Given the description of an element on the screen output the (x, y) to click on. 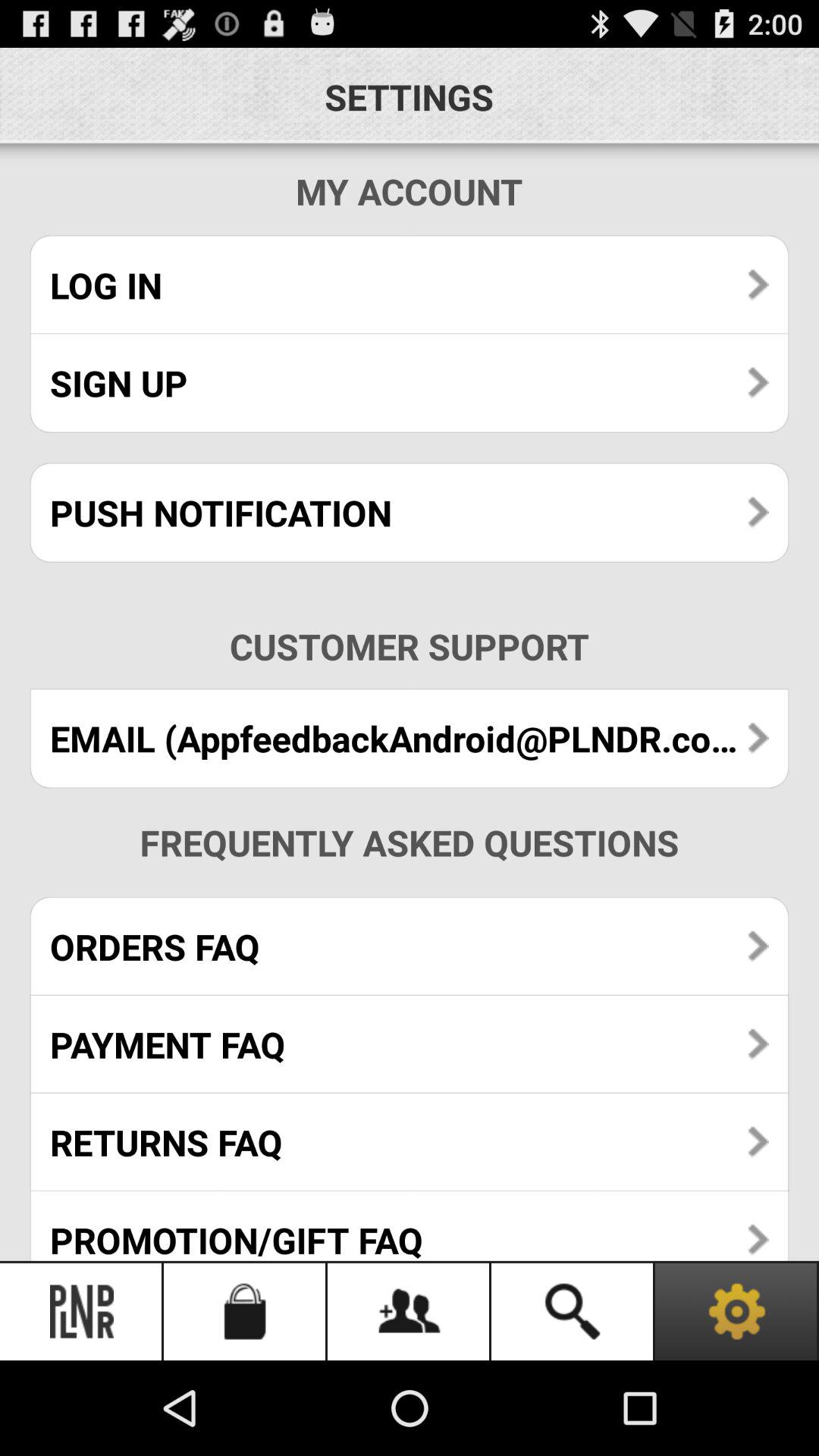
launch the orders faq icon (409, 946)
